Given the description of an element on the screen output the (x, y) to click on. 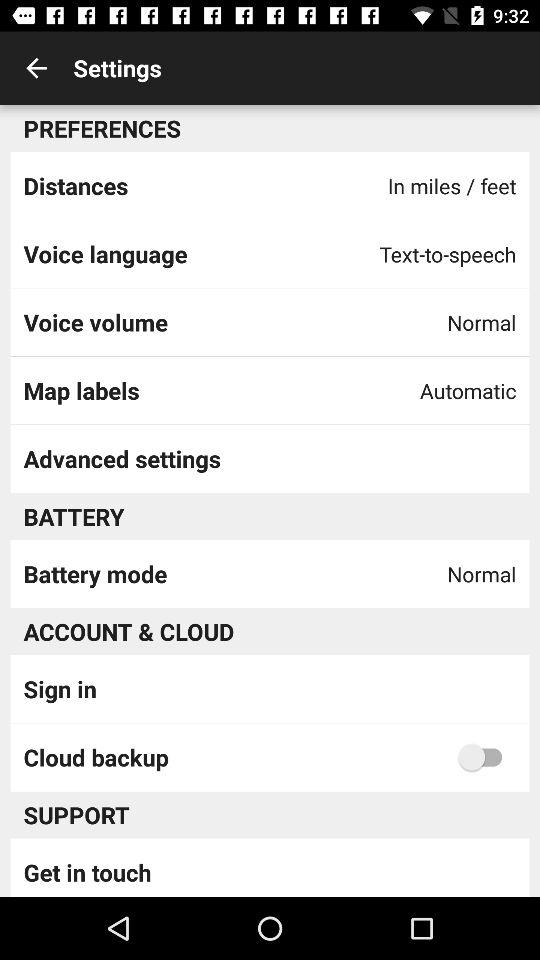
toggle cloud backup option (485, 757)
